Given the description of an element on the screen output the (x, y) to click on. 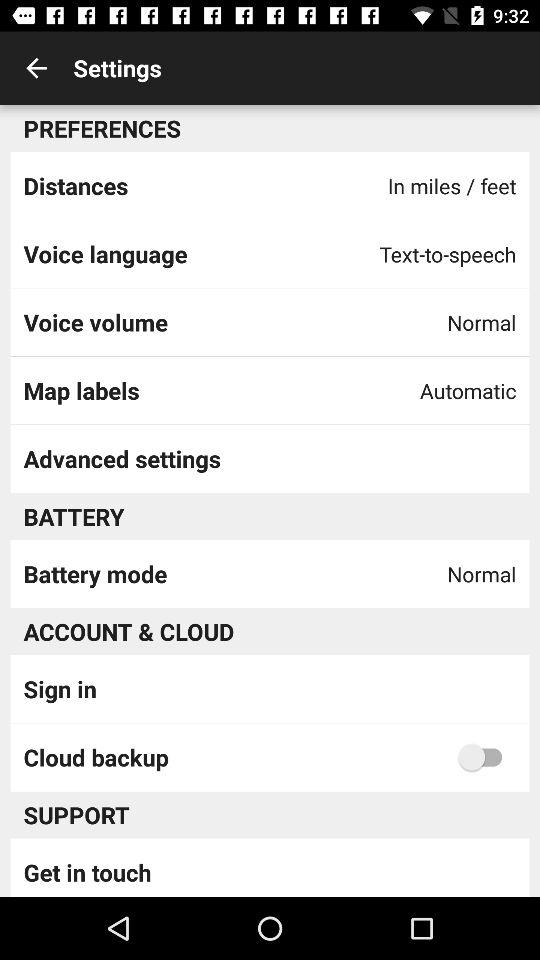
toggle cloud backup option (485, 757)
